Given the description of an element on the screen output the (x, y) to click on. 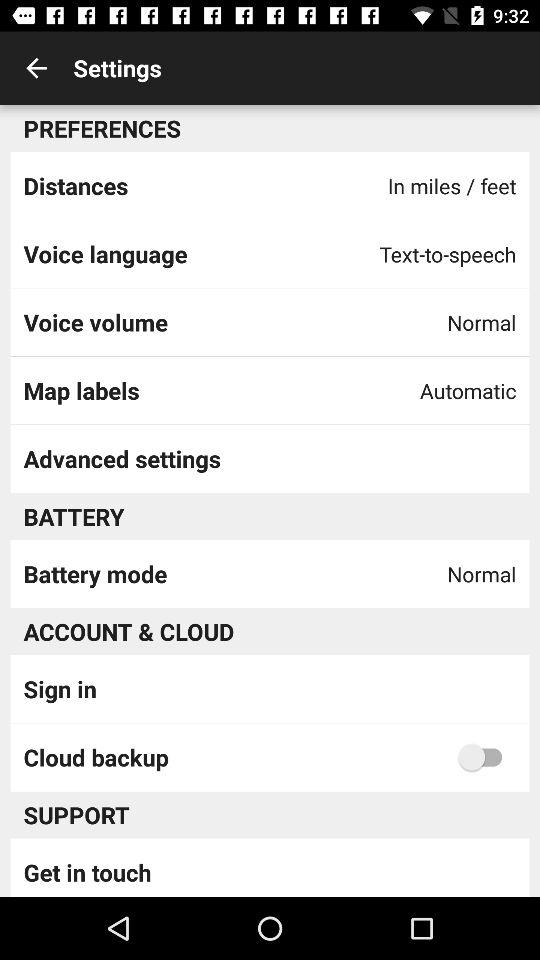
toggle cloud backup option (485, 757)
